Given the description of an element on the screen output the (x, y) to click on. 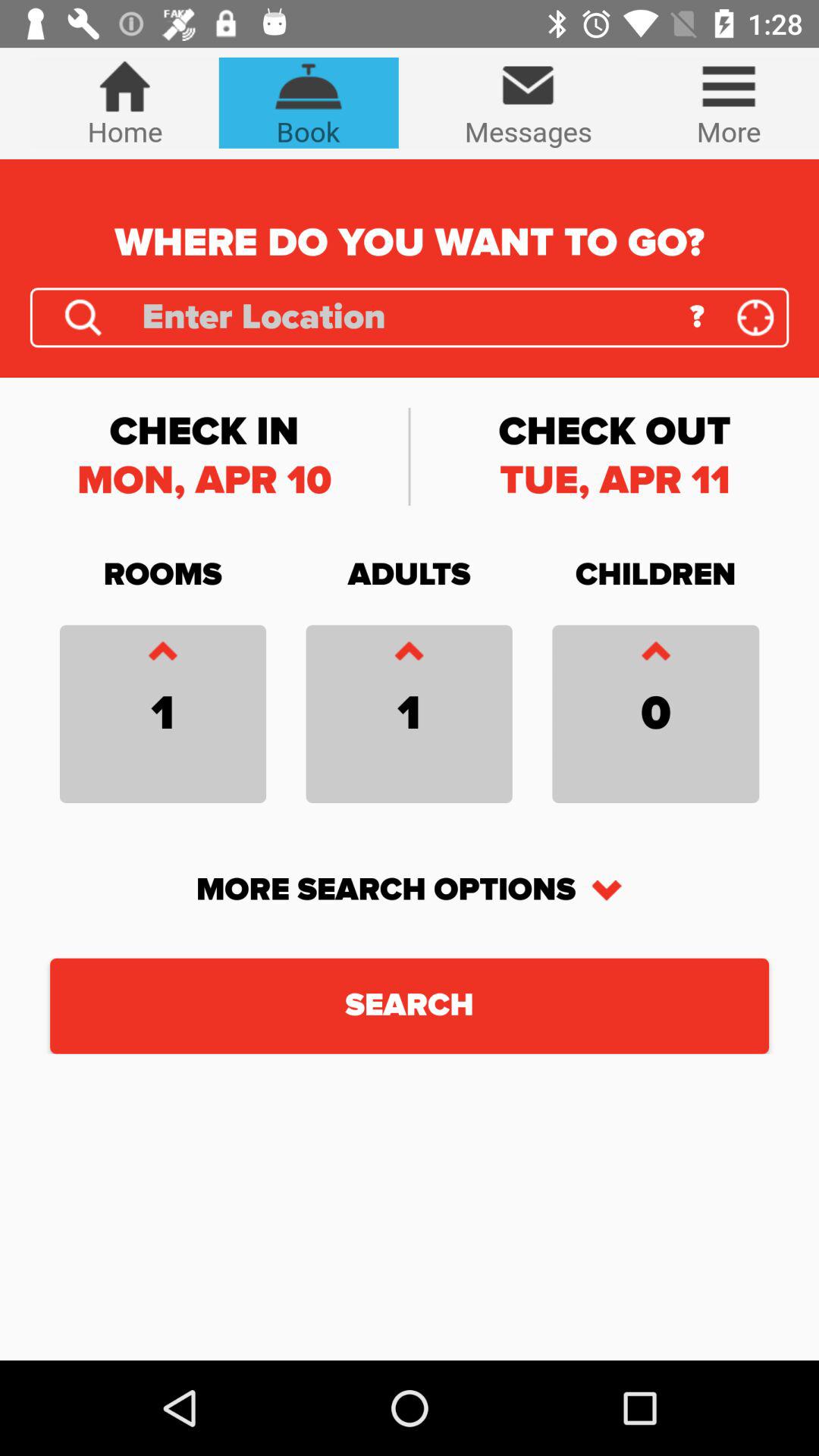
write location (404, 317)
